Given the description of an element on the screen output the (x, y) to click on. 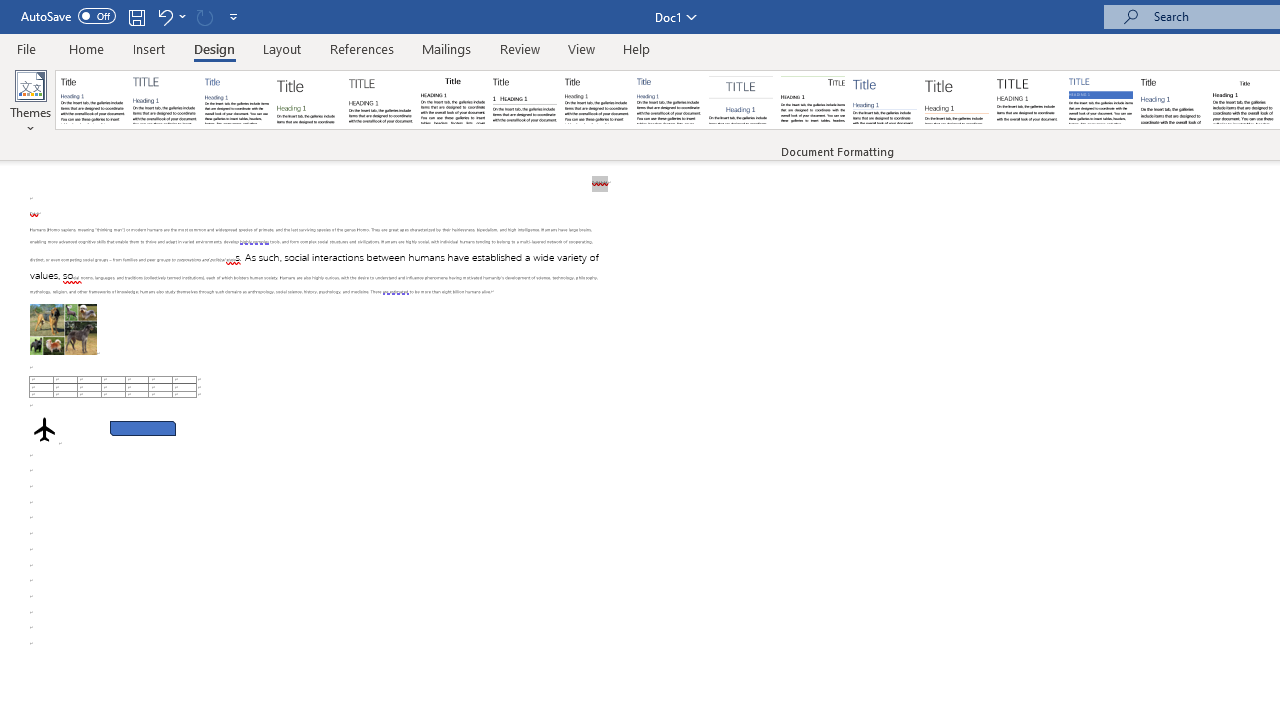
Black & White (Classic) (452, 100)
Lines (Stylish) (957, 100)
Basic (Stylish) (308, 100)
Can't Repeat (204, 15)
Morphological variation in six dogs (63, 328)
Lines (Distinctive) (812, 100)
Themes (30, 102)
